Given the description of an element on the screen output the (x, y) to click on. 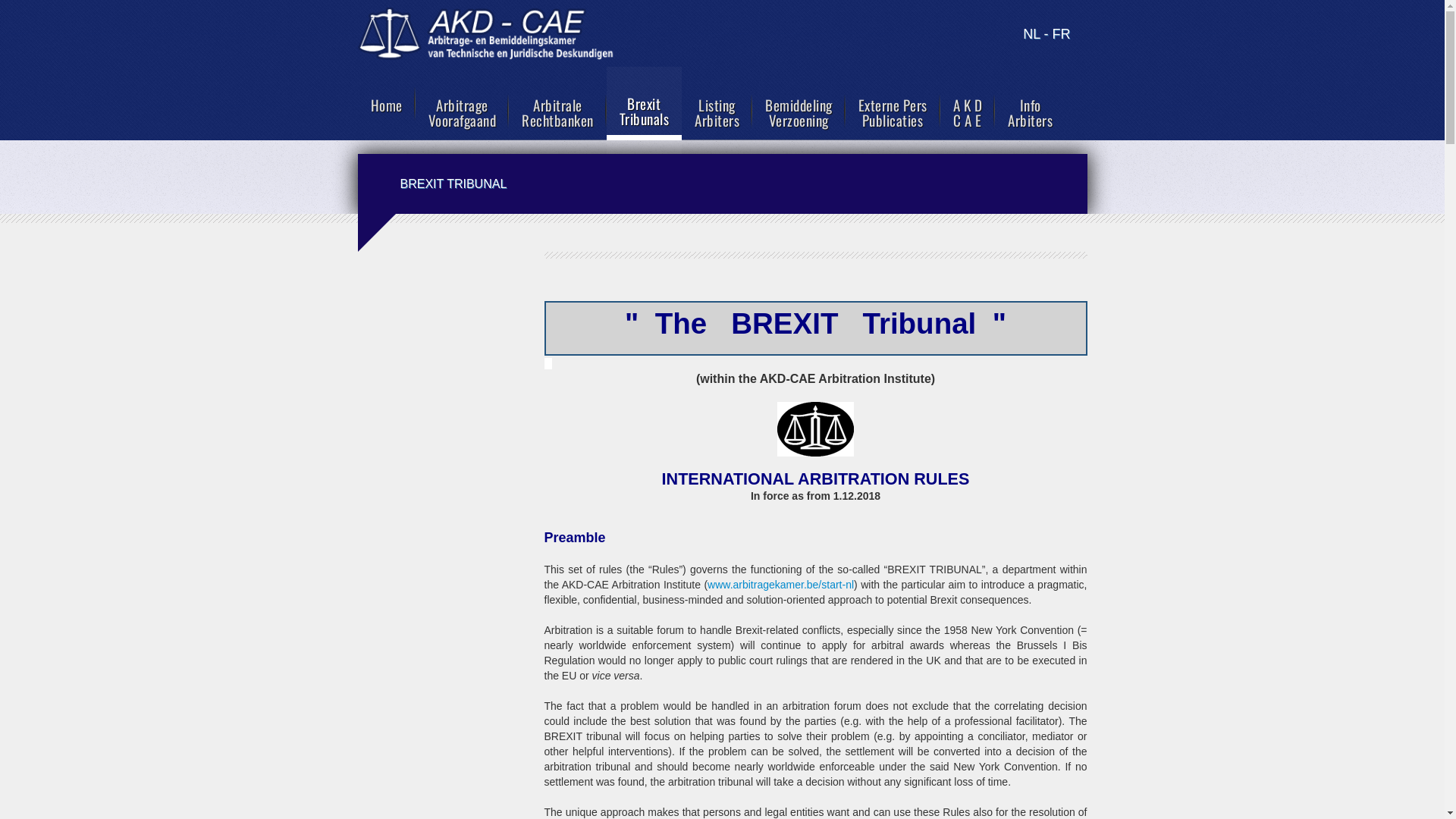
Externe Pers
Publicaties Element type: text (891, 111)
Info
Arbiters Element type: text (1029, 111)
Bemiddeling
Verzoening Element type: text (798, 111)
A K D
C A E Element type: text (967, 111)
www.arbitragekamer.be/start-nl Element type: text (780, 584)
FR Element type: text (1061, 33)
Arbitrale
Rechtbanken Element type: text (557, 111)
NL Element type: text (1030, 33)
Listing
Arbiters Element type: text (716, 111)
Arbitrage
Voorafgaand Element type: text (462, 111)
Brexit
Tribunals Element type: text (644, 109)
Home Element type: text (386, 104)
